Given the description of an element on the screen output the (x, y) to click on. 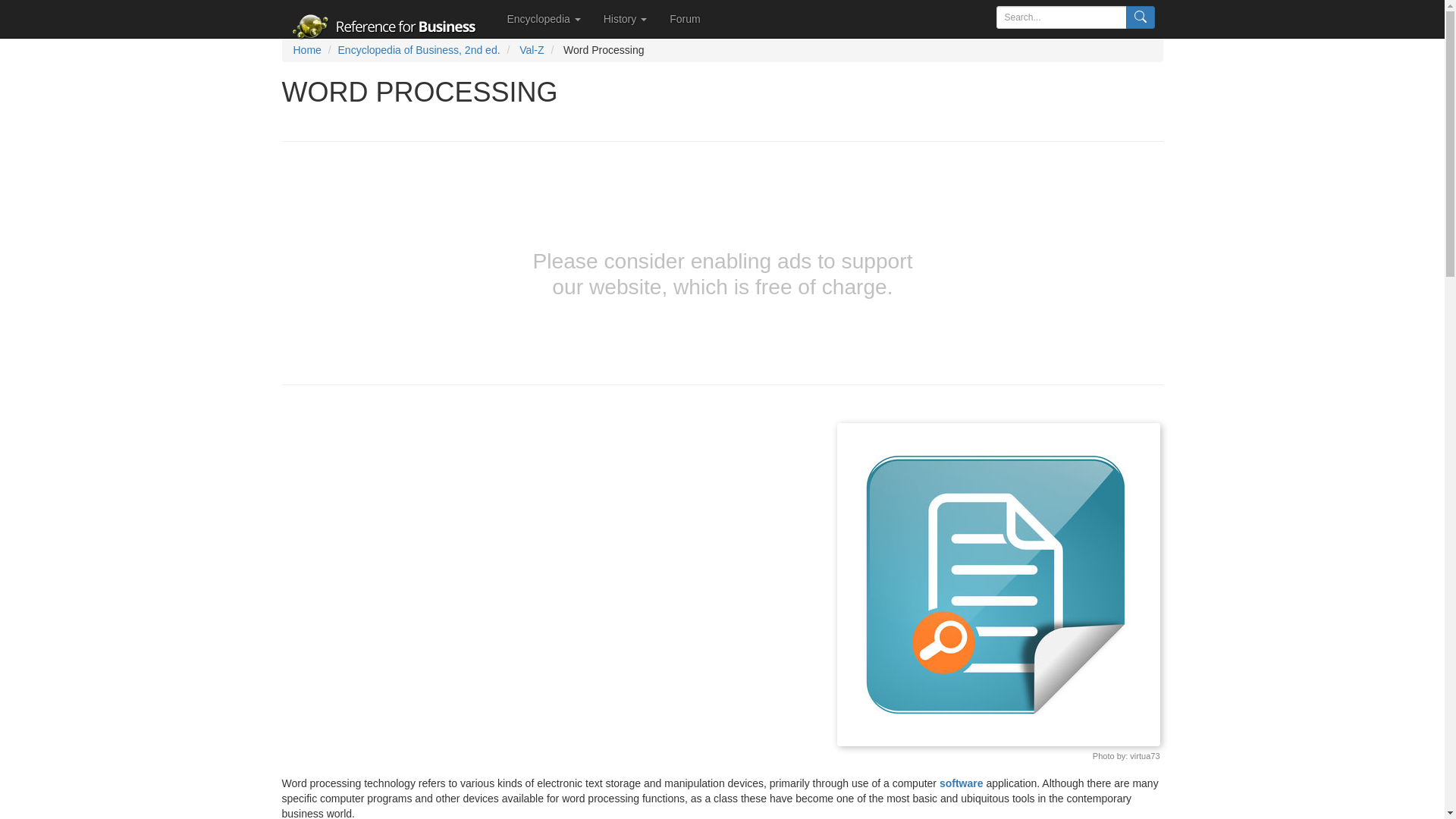
Encyclopedia (544, 18)
Encyclopedia of Business, 2nd ed. (418, 50)
History (625, 18)
Val-Z (531, 50)
Forum (684, 18)
Home (306, 50)
software (962, 783)
